Given the description of an element on the screen output the (x, y) to click on. 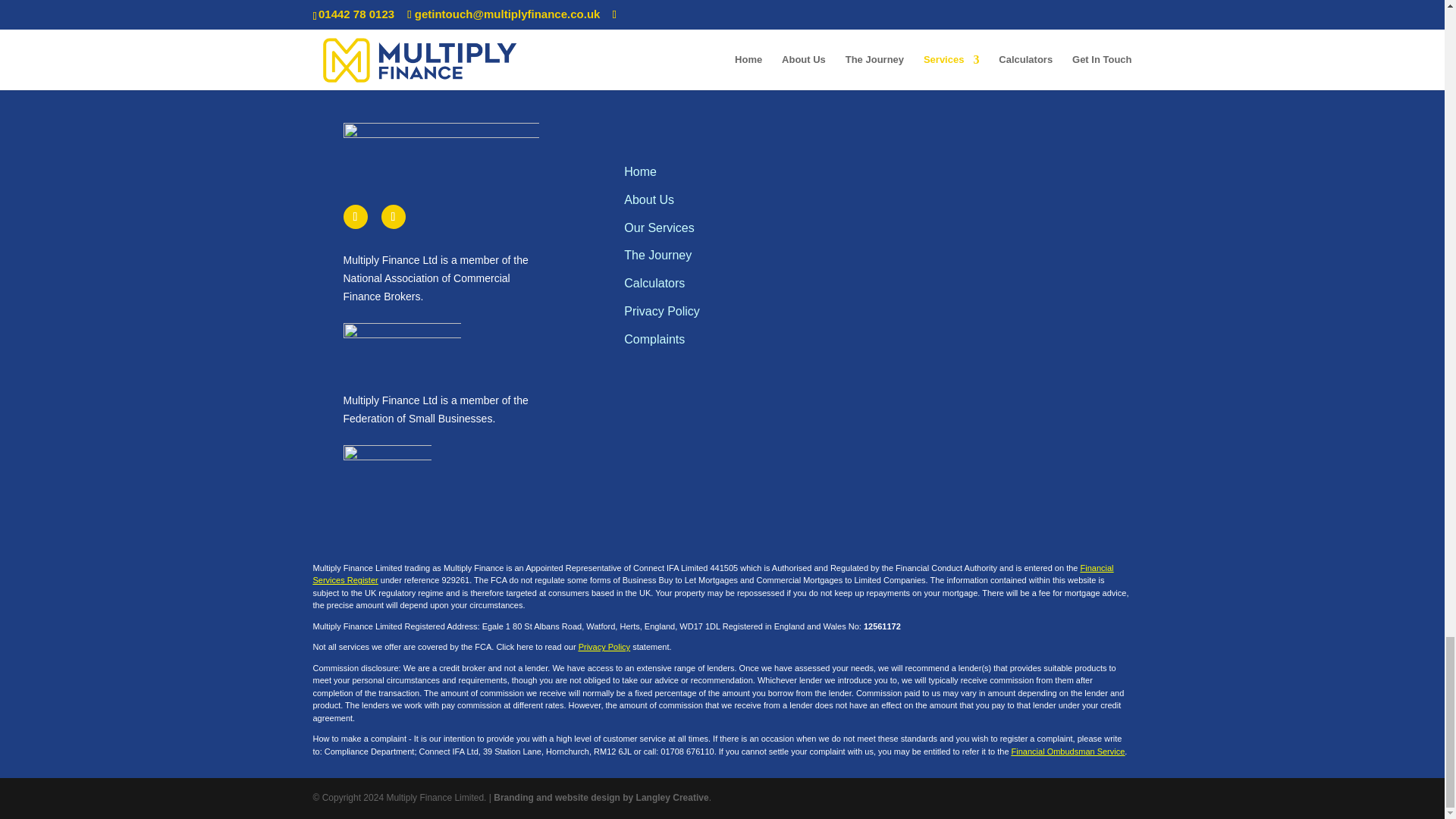
Follow on X (354, 216)
Follow on LinkedIn (392, 216)
FSB-Member-Logo-White (386, 473)
Multiply Finance Master Logo - Reverse RGB (440, 144)
